Given the description of an element on the screen output the (x, y) to click on. 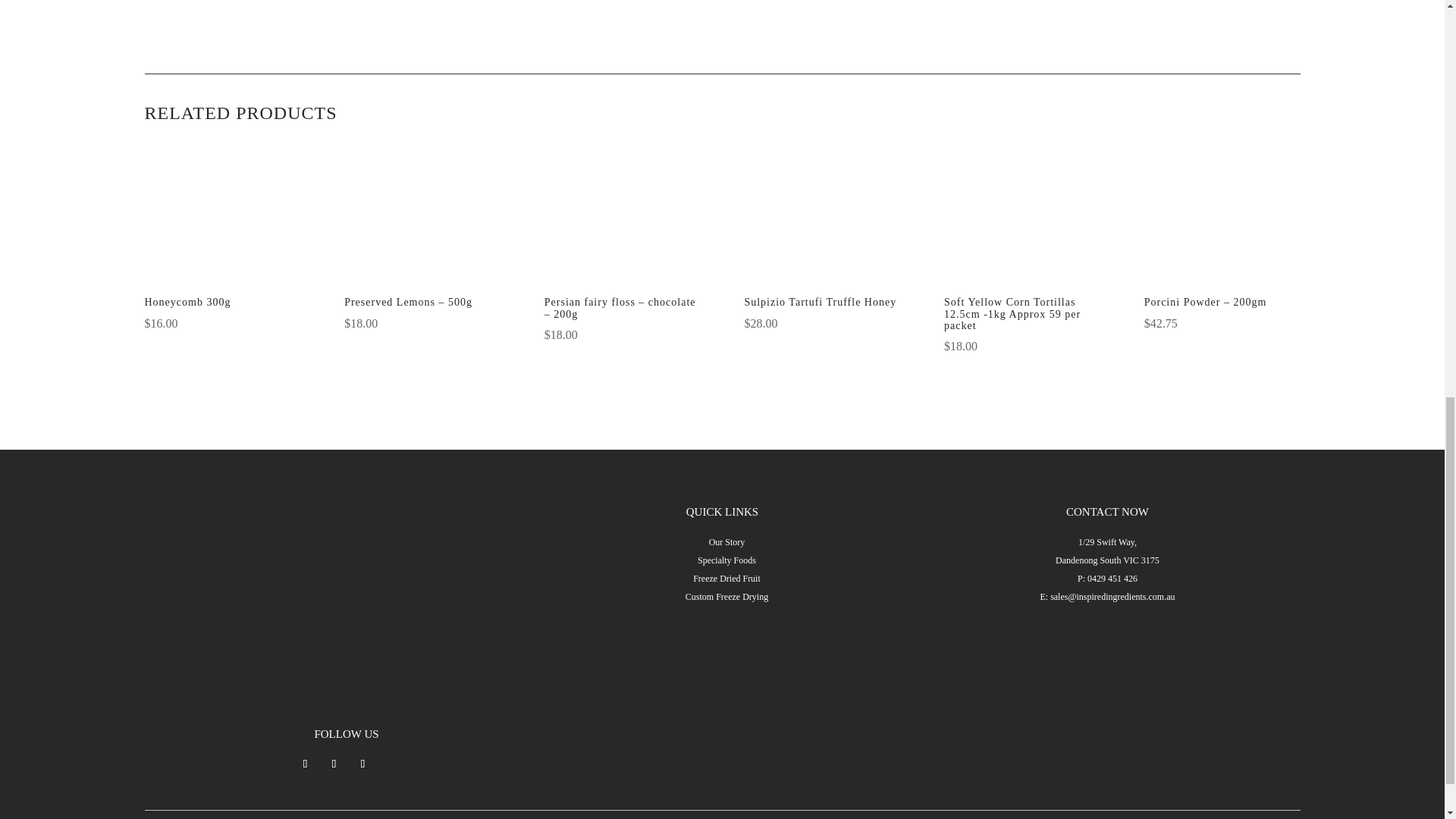
0429 451 426 (1112, 578)
Custom Freeze Drying (726, 596)
Specialty Foods (726, 560)
Follow on Facebook (304, 763)
Follow on LinkedIn (362, 763)
Follow on Instagram (333, 763)
Freeze Dried Fruit (726, 578)
Our Story (727, 542)
